Given the description of an element on the screen output the (x, y) to click on. 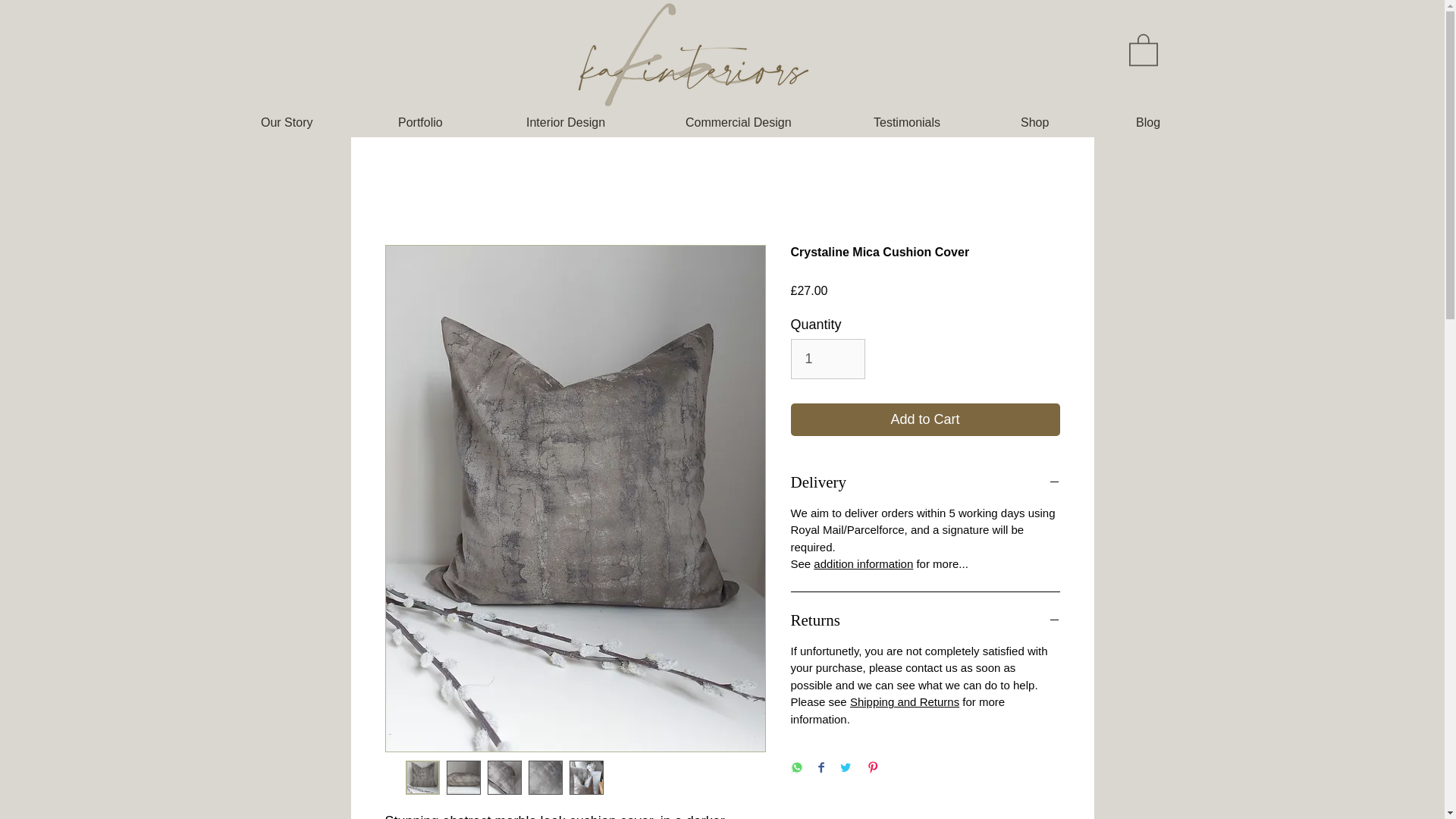
Testimonials (935, 122)
Interior Design (592, 122)
ka interiors logo (682, 54)
Shop (1066, 122)
Delivery (924, 482)
1 (827, 358)
Blog (1179, 122)
Shipping and Returns (904, 701)
addition information (862, 563)
Returns (924, 619)
